Given the description of an element on the screen output the (x, y) to click on. 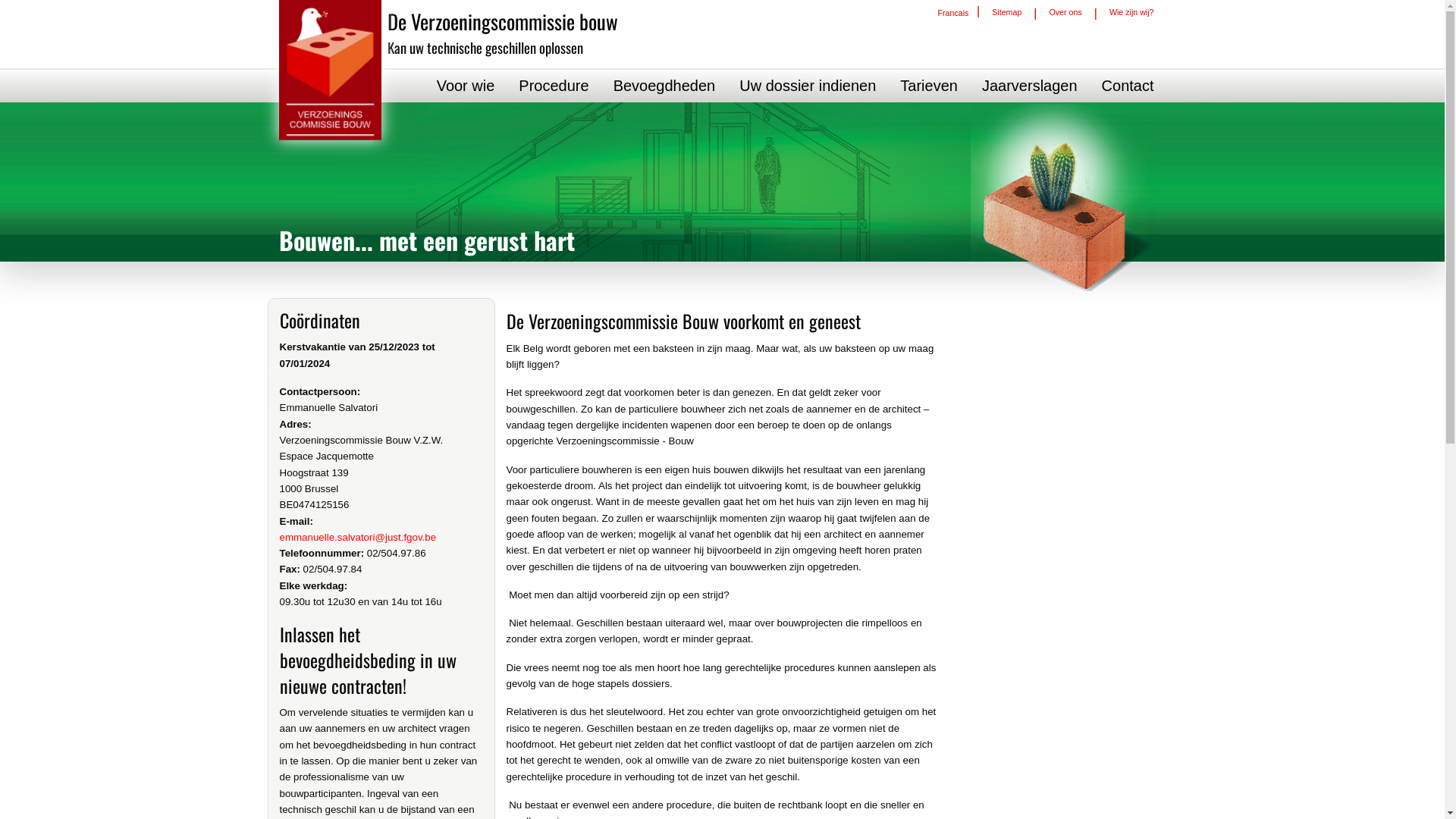
Wie zijn wij? Element type: text (1131, 12)
Jaarverslagen Element type: text (1029, 85)
Francais Element type: text (952, 12)
De Verzoeningscommissie bouw Element type: text (502, 21)
Overslaan en naar de inhoud gaan Element type: text (0, 0)
Procedure Element type: text (553, 85)
emmanuelle.salvatori@just.fgov.be Element type: text (357, 536)
Voor wie Element type: text (465, 85)
Sitemap Element type: text (1006, 12)
Tarieven Element type: text (928, 85)
Uw dossier indienen Element type: text (807, 85)
Contact Element type: text (1127, 85)
Home Element type: hover (330, 70)
Over ons Element type: text (1064, 12)
Bevoegdheden Element type: text (664, 85)
